Given the description of an element on the screen output the (x, y) to click on. 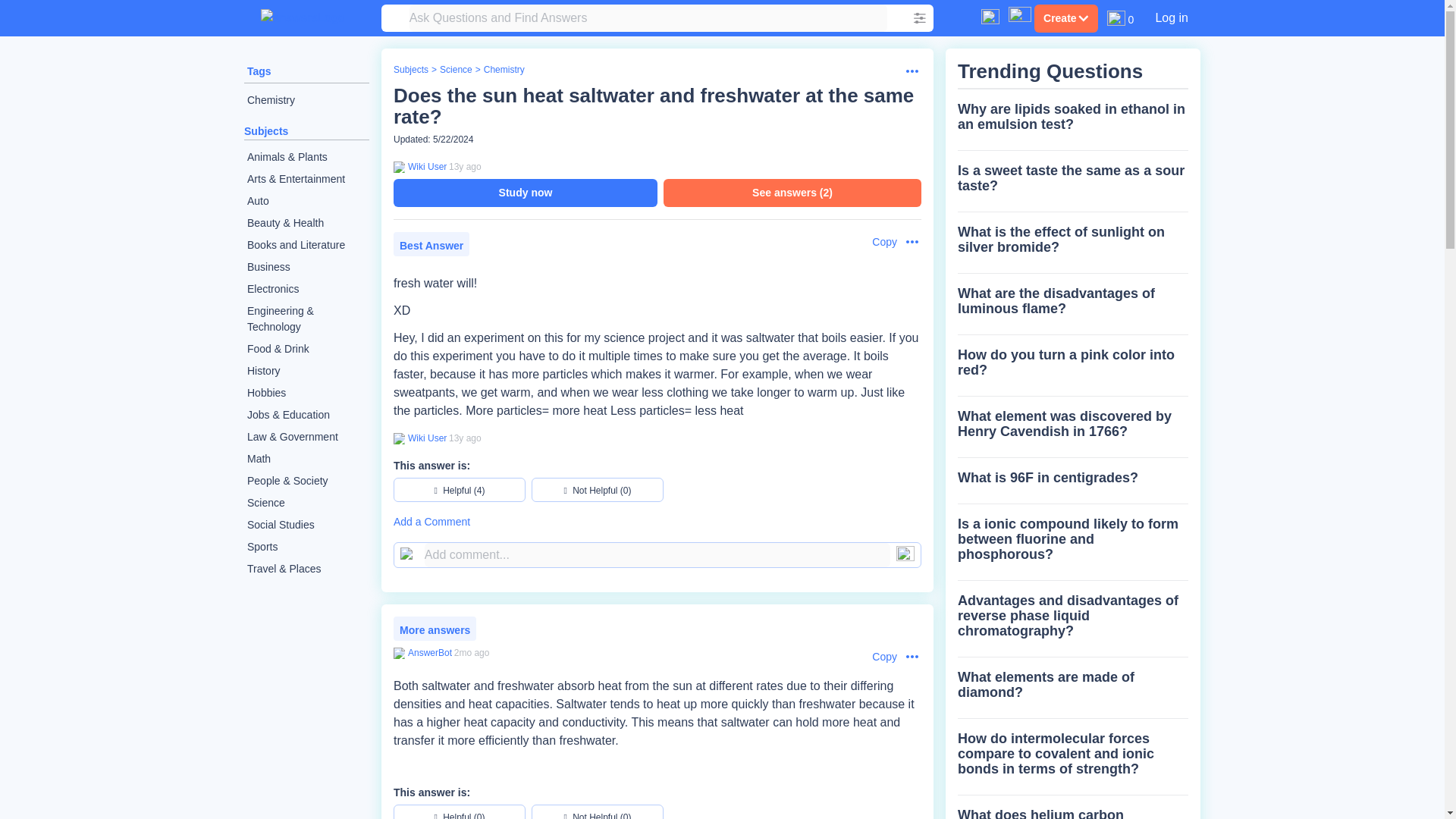
Copy (876, 242)
2024-05-22 22:14:45 (471, 652)
History (306, 371)
Create (1065, 18)
2010-12-29 14:51:24 (464, 438)
Subjects (410, 69)
Tags (258, 70)
Study now (525, 193)
Hobbies (306, 393)
Science (306, 503)
Chemistry (306, 100)
Business (306, 267)
Chemistry (503, 69)
Social Studies (306, 525)
Subjects (266, 131)
